Given the description of an element on the screen output the (x, y) to click on. 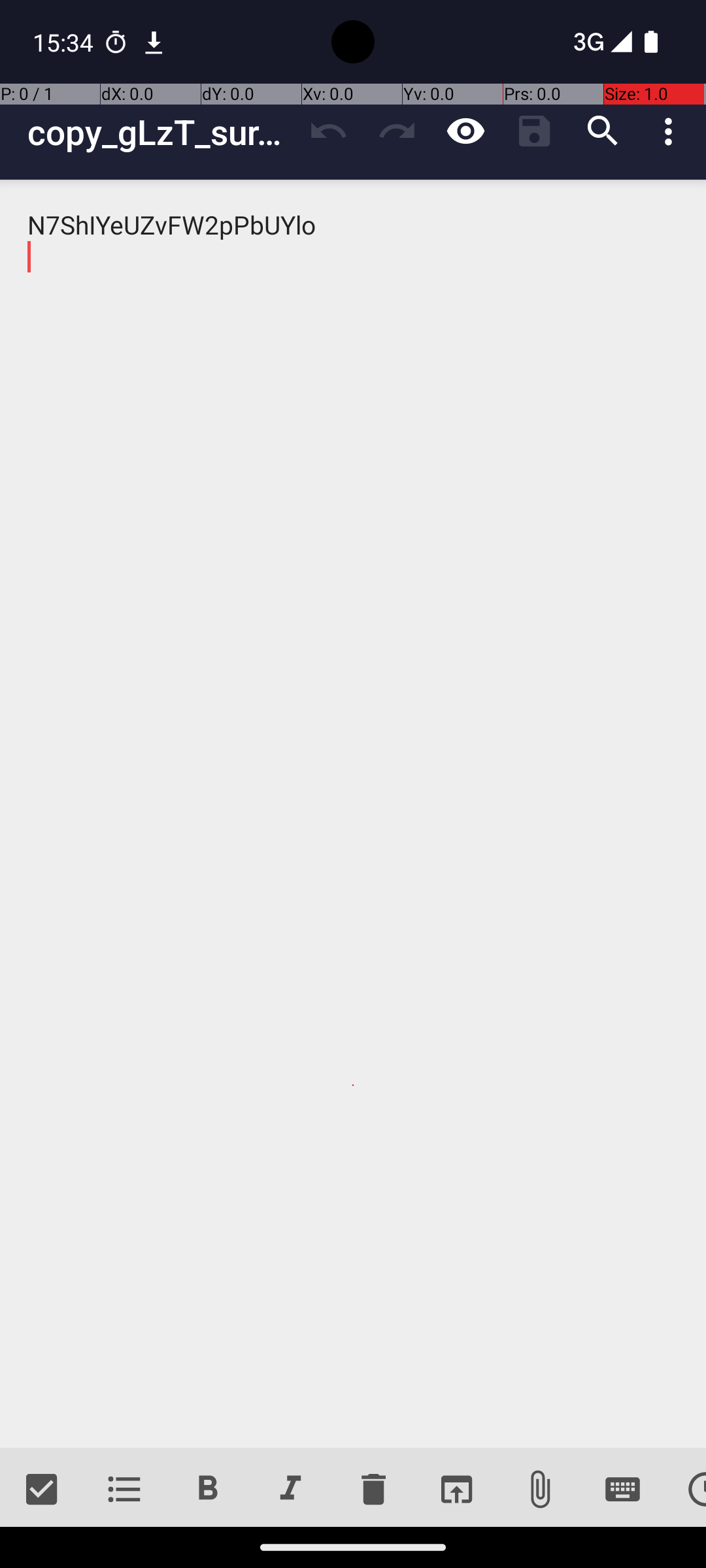
copy_gLzT_sure_nest Element type: android.widget.TextView (160, 131)
N7ShIYeUZvFW2pPbUYlo
 Element type: android.widget.EditText (353, 813)
